Given the description of an element on the screen output the (x, y) to click on. 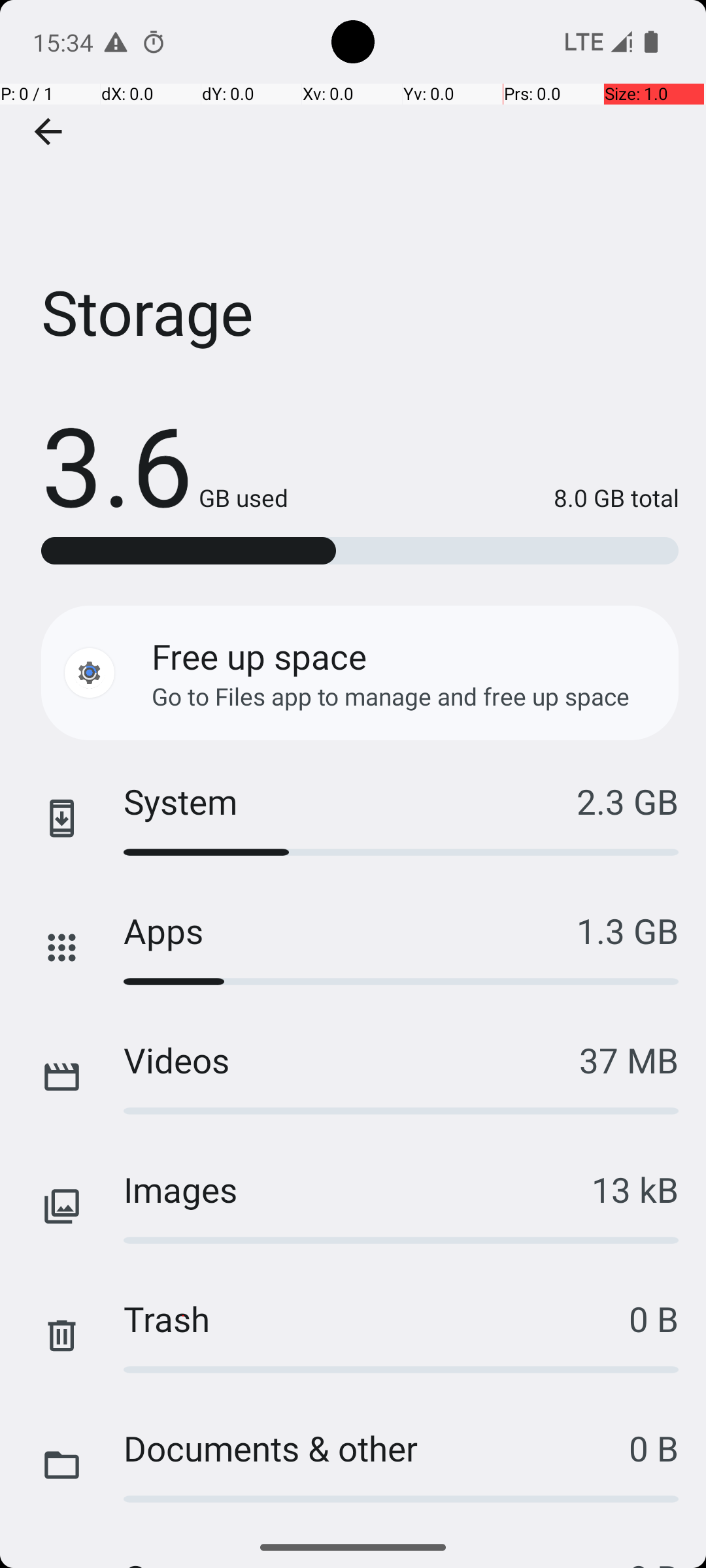
3.6 GB used Element type: android.widget.TextView (164, 463)
8.0 GB total Element type: android.widget.TextView (483, 497)
Free up space Element type: android.widget.TextView (258, 656)
Go to Files app to manage and free up space Element type: android.widget.TextView (390, 695)
2.3 GB Element type: android.widget.TextView (627, 801)
1.3 GB Element type: android.widget.TextView (627, 930)
37 MB Element type: android.widget.TextView (628, 1059)
13 kB Element type: android.widget.TextView (634, 1189)
Trash Element type: android.widget.TextView (375, 1318)
0 B Element type: android.widget.TextView (653, 1318)
Documents & other Element type: android.widget.TextView (375, 1447)
